Given the description of an element on the screen output the (x, y) to click on. 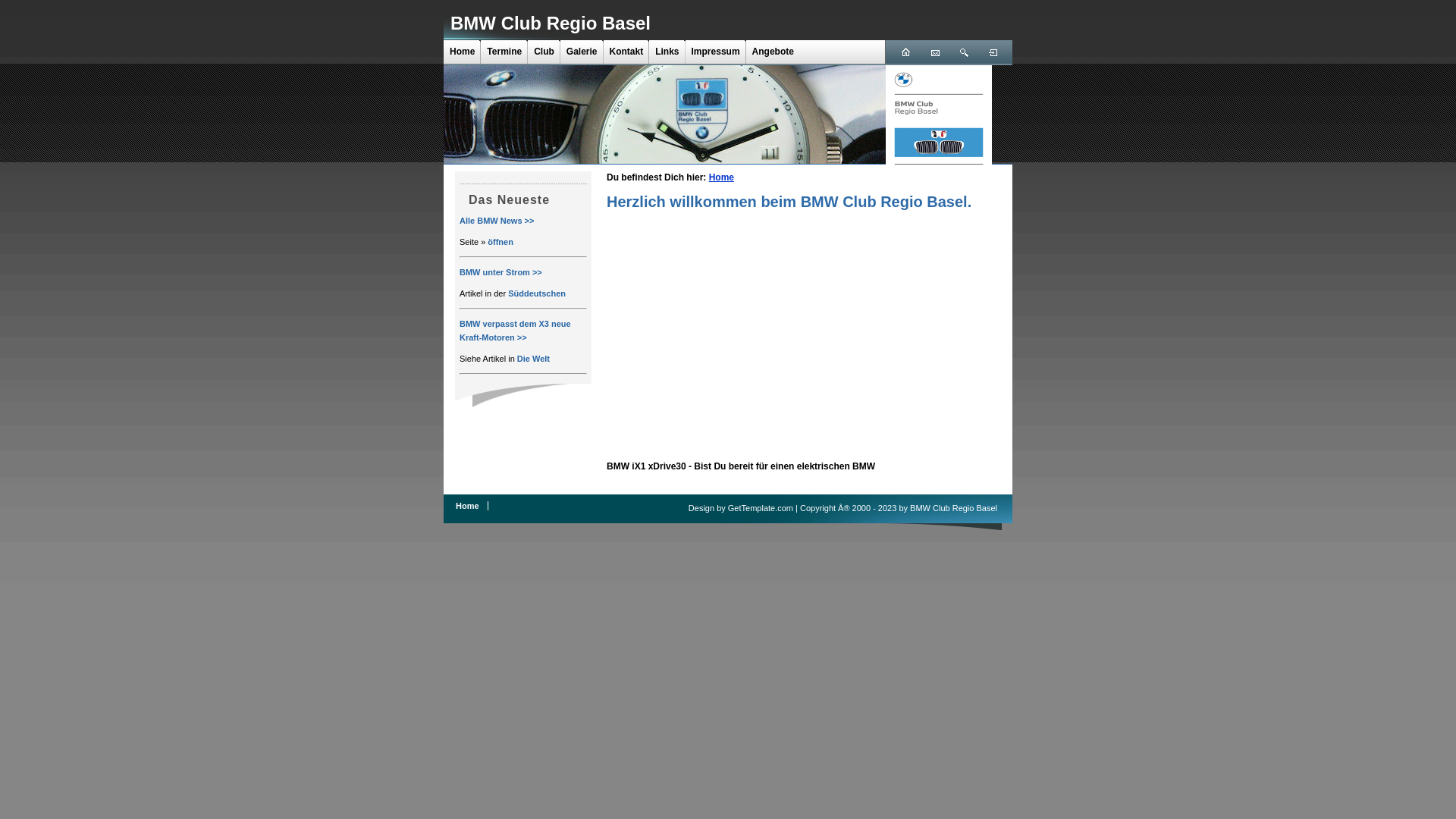
not found: kopf-.jpg Element type: hover (664, 114)
BMW Club Regio Basel Element type: text (550, 22)
Kontakt Element type: text (626, 51)
Home Element type: hover (904, 48)
Links Element type: text (666, 51)
Club Element type: text (543, 51)
BMW-Logo Element type: hover (938, 118)
BMW verpasst dem X3 neue Kraft-Motoren >> Element type: text (515, 330)
Angebote Element type: text (772, 51)
Home Element type: text (721, 177)
Home Element type: text (467, 505)
Alle BMW News >> Element type: text (496, 220)
Suche Element type: hover (963, 48)
Termine Element type: text (503, 51)
Home Element type: text (461, 51)
Impressum Element type: text (715, 51)
Galerie Element type: text (581, 51)
GetTemplate.com Element type: text (760, 507)
Mail Element type: hover (934, 48)
Login Element type: hover (992, 48)
BMW unter Strom >> Element type: text (500, 271)
Die Welt Element type: text (533, 358)
